Given the description of an element on the screen output the (x, y) to click on. 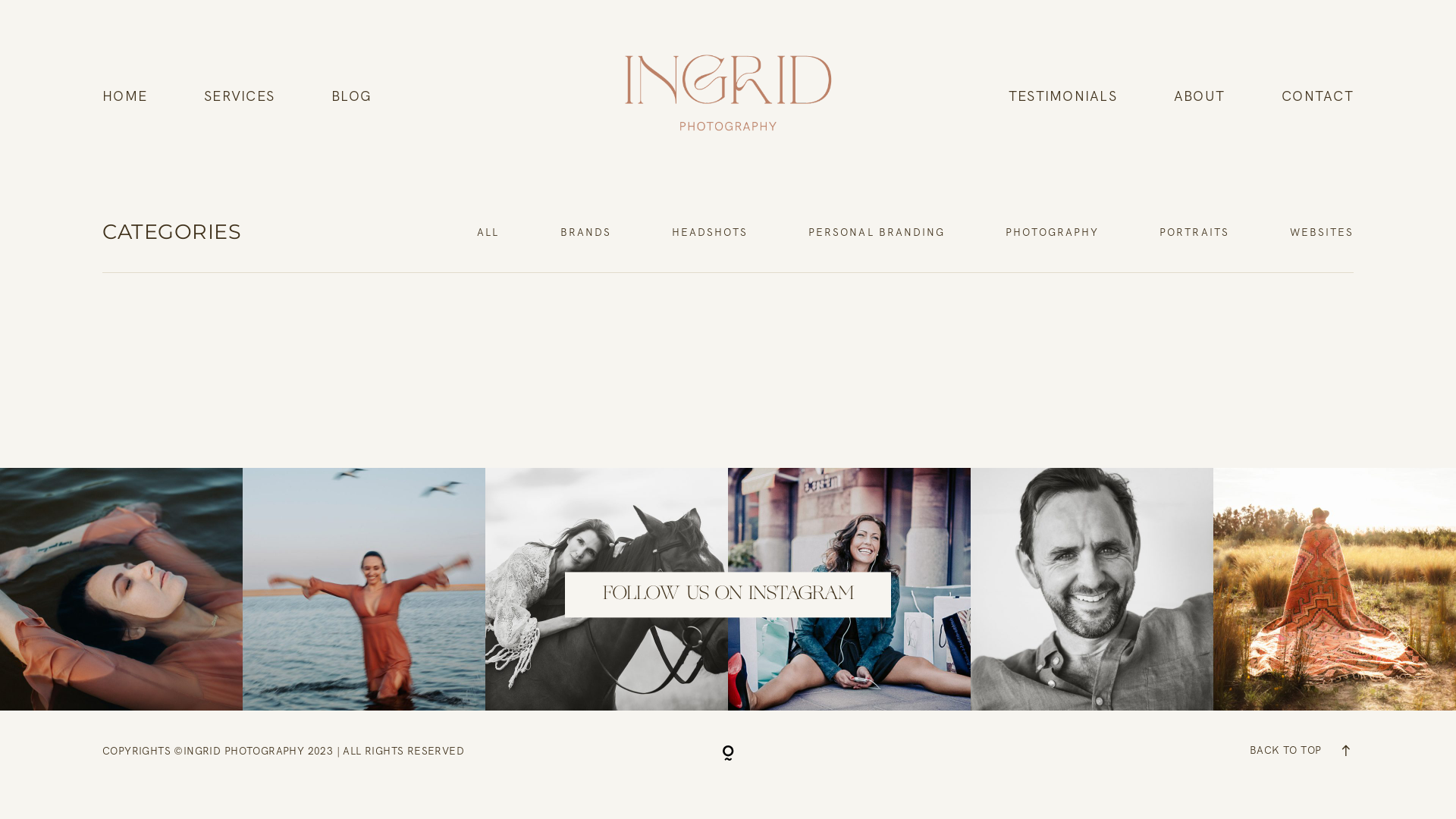
FOLLOW US ON INSTAGRAM Element type: text (727, 594)
HOME Element type: text (124, 95)
PHOTOGRAPHY Element type: text (1051, 231)
ABOUT Element type: text (1198, 95)
BLOG Element type: text (351, 95)
WEBSITES Element type: text (1321, 231)
HEADSHOTS Element type: text (709, 231)
TESTIMONIALS Element type: text (1062, 95)
ALL Element type: text (487, 231)
SERVICES Element type: text (238, 95)
BRANDS Element type: text (585, 231)
PERSONAL BRANDING Element type: text (876, 231)
PORTRAITS Element type: text (1193, 231)
Sorry, your browser does not support inline SVG. Element type: text (727, 750)
CONTACT Element type: text (1317, 95)
